Given the description of an element on the screen output the (x, y) to click on. 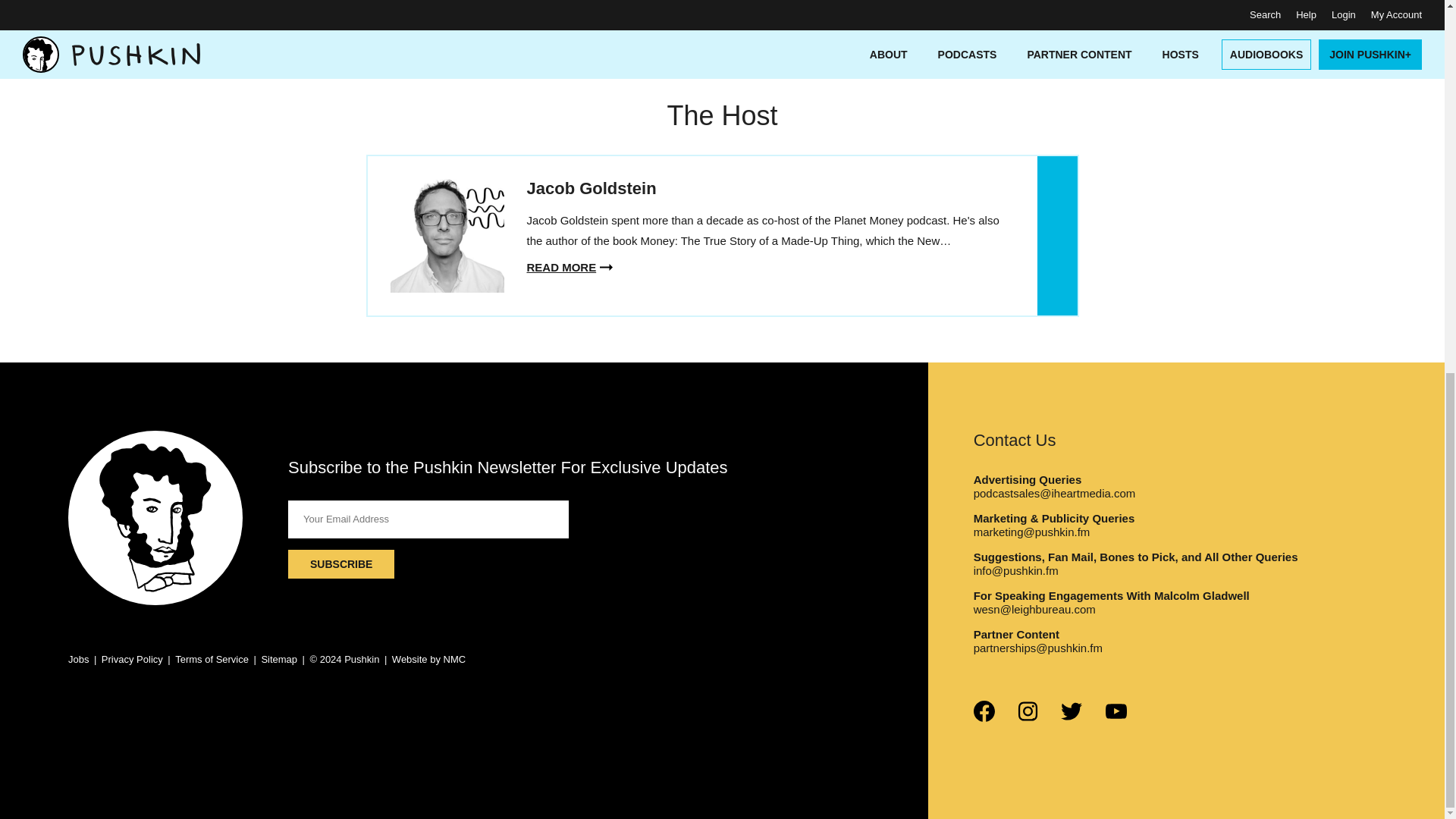
Terms of Service (211, 659)
Website by NMC (428, 659)
Jacob Goldstein (590, 188)
Privacy Policy (132, 659)
Sitemap (278, 659)
Jobs (78, 659)
SUBSCRIBE (341, 563)
